Given the description of an element on the screen output the (x, y) to click on. 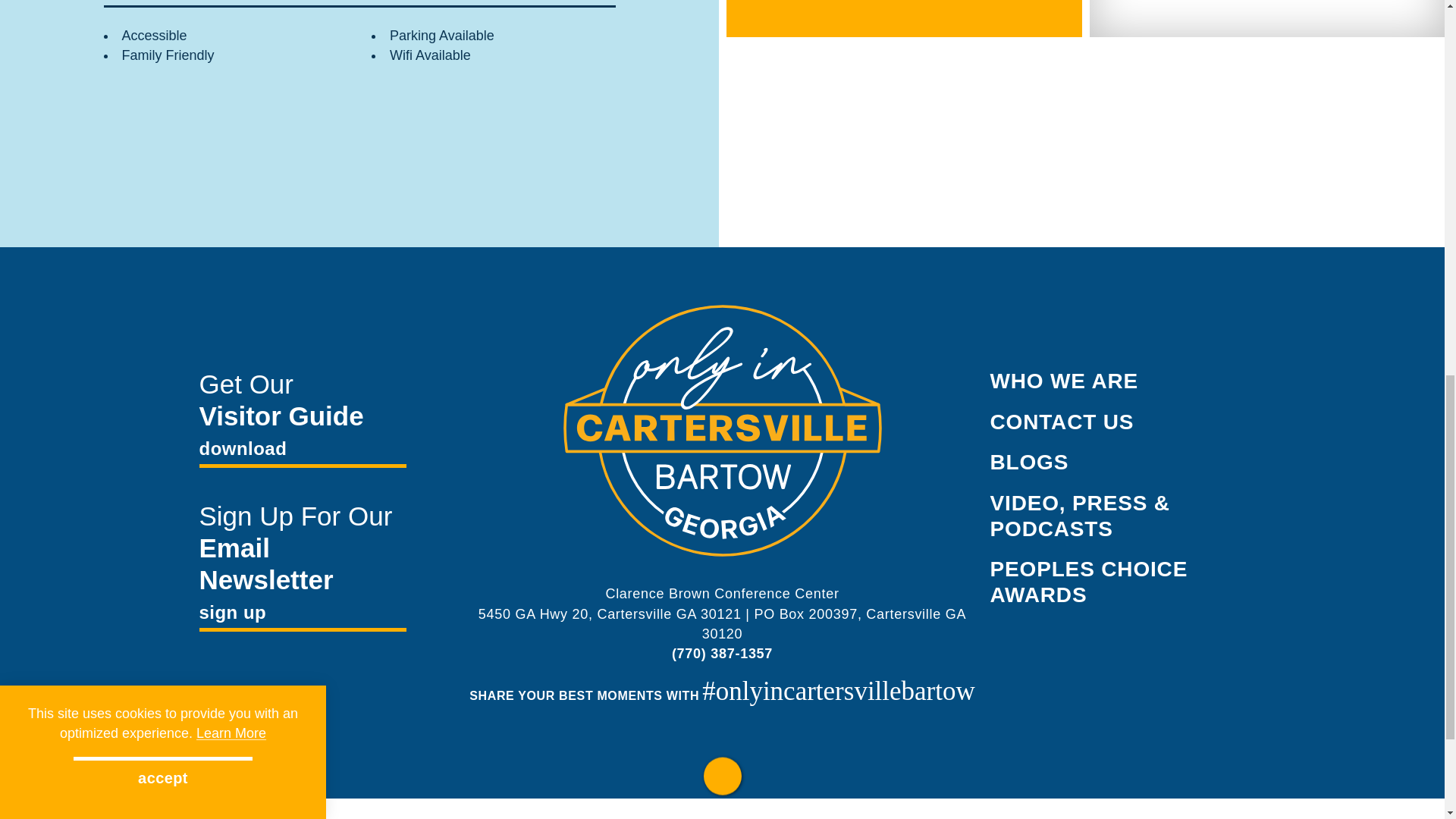
PEOPLES CHOICE AWARDS (1089, 581)
sign up (302, 614)
Amenities (148, 2)
WHO WE ARE (1064, 381)
download (302, 451)
website (810, 0)
BLOGS (1029, 462)
CONTACT US (1062, 422)
